Given the description of an element on the screen output the (x, y) to click on. 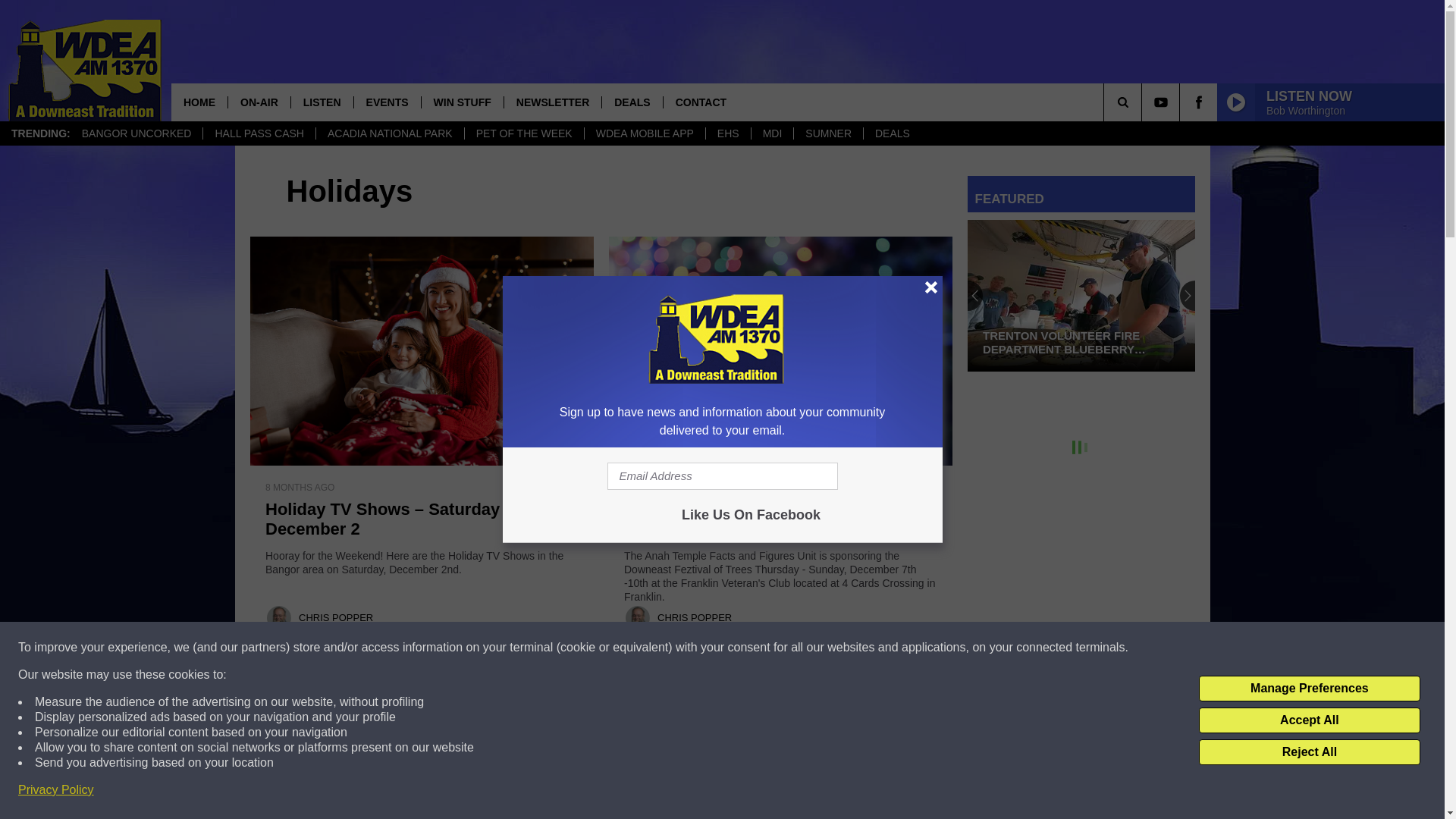
SUMNER (828, 133)
Email Address (722, 475)
Accept All (1309, 720)
HOME (199, 102)
Manage Preferences (1309, 688)
PET OF THE WEEK (523, 133)
LISTEN (321, 102)
EHS (727, 133)
WIN STUFF (461, 102)
Privacy Policy (55, 789)
CONTACT (700, 102)
NEWSLETTER (552, 102)
DEALS (892, 133)
DEALS (631, 102)
HALL PASS CASH (258, 133)
